Given the description of an element on the screen output the (x, y) to click on. 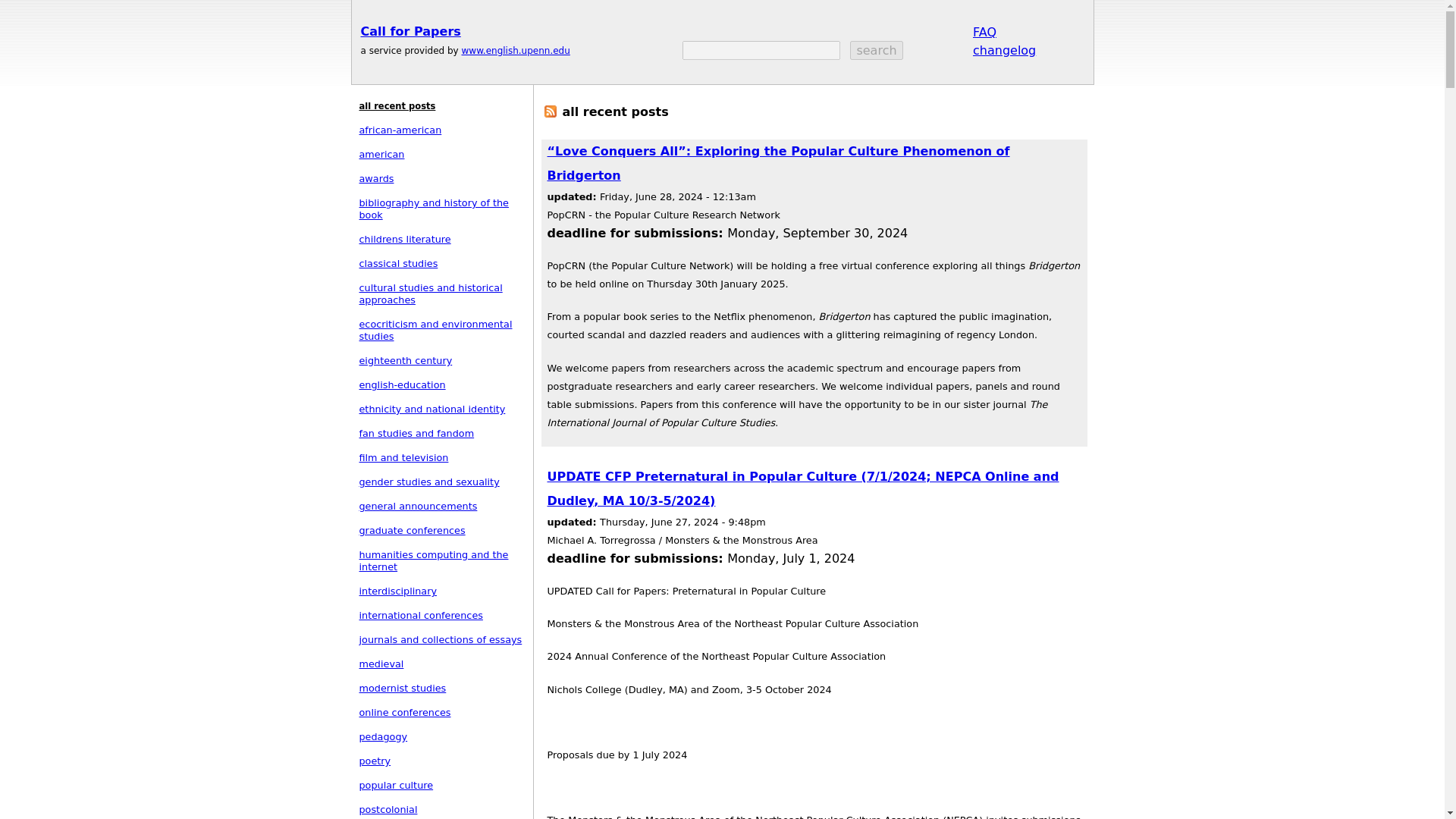
www.english.upenn.edu (515, 50)
changelog (1003, 49)
search (876, 49)
search (876, 49)
FAQ (983, 31)
Call for Papers (411, 31)
